Given the description of an element on the screen output the (x, y) to click on. 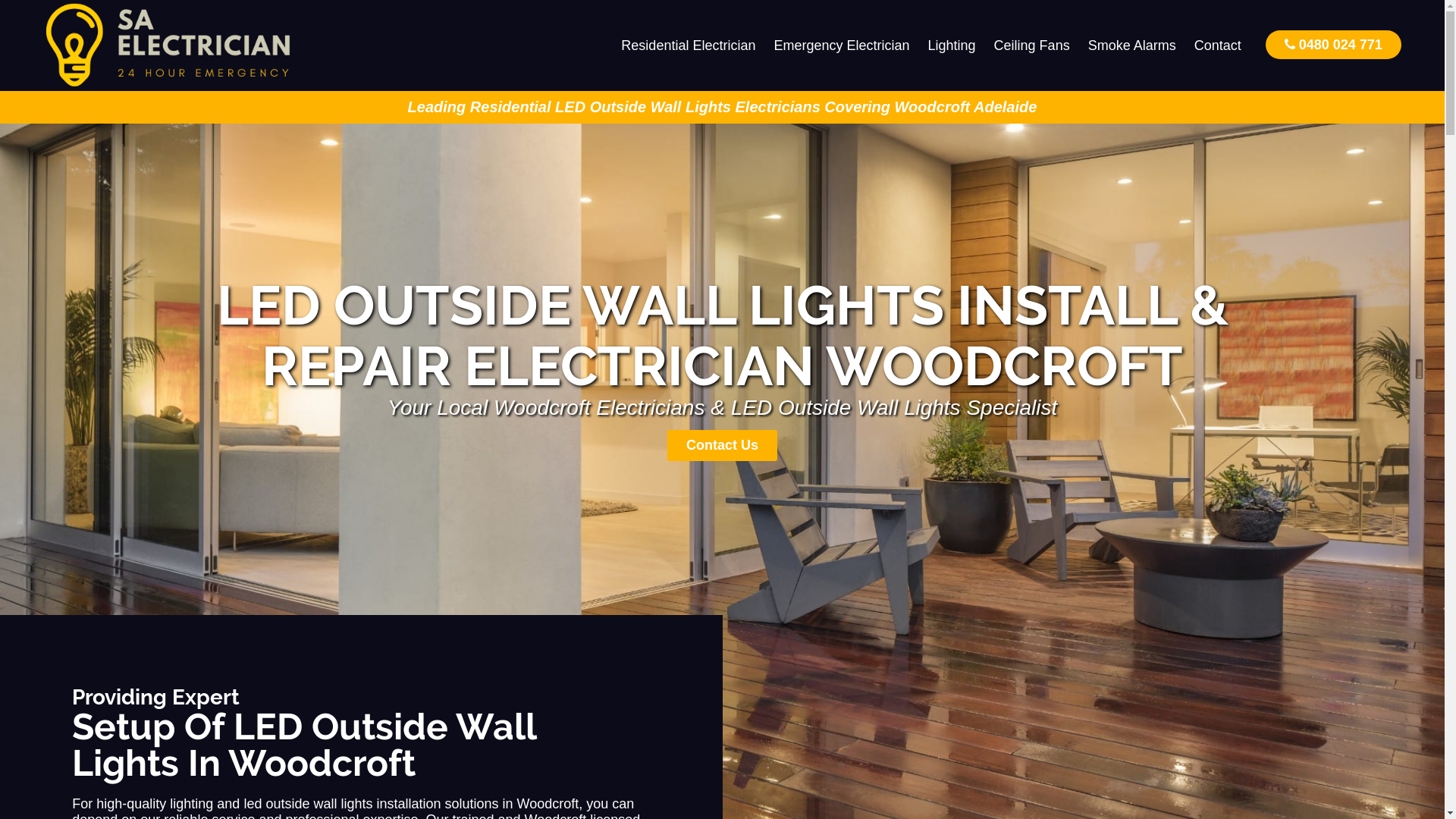
Residential Electrician Element type: text (687, 45)
Contact Element type: text (1217, 45)
Ceiling Fans Element type: text (1032, 45)
Contact Us Element type: text (722, 445)
Lighting Element type: text (952, 45)
0480 024 771 Element type: text (1333, 44)
Emergency Electrician Element type: text (841, 45)
Smoke Alarms Element type: text (1132, 45)
